Given the description of an element on the screen output the (x, y) to click on. 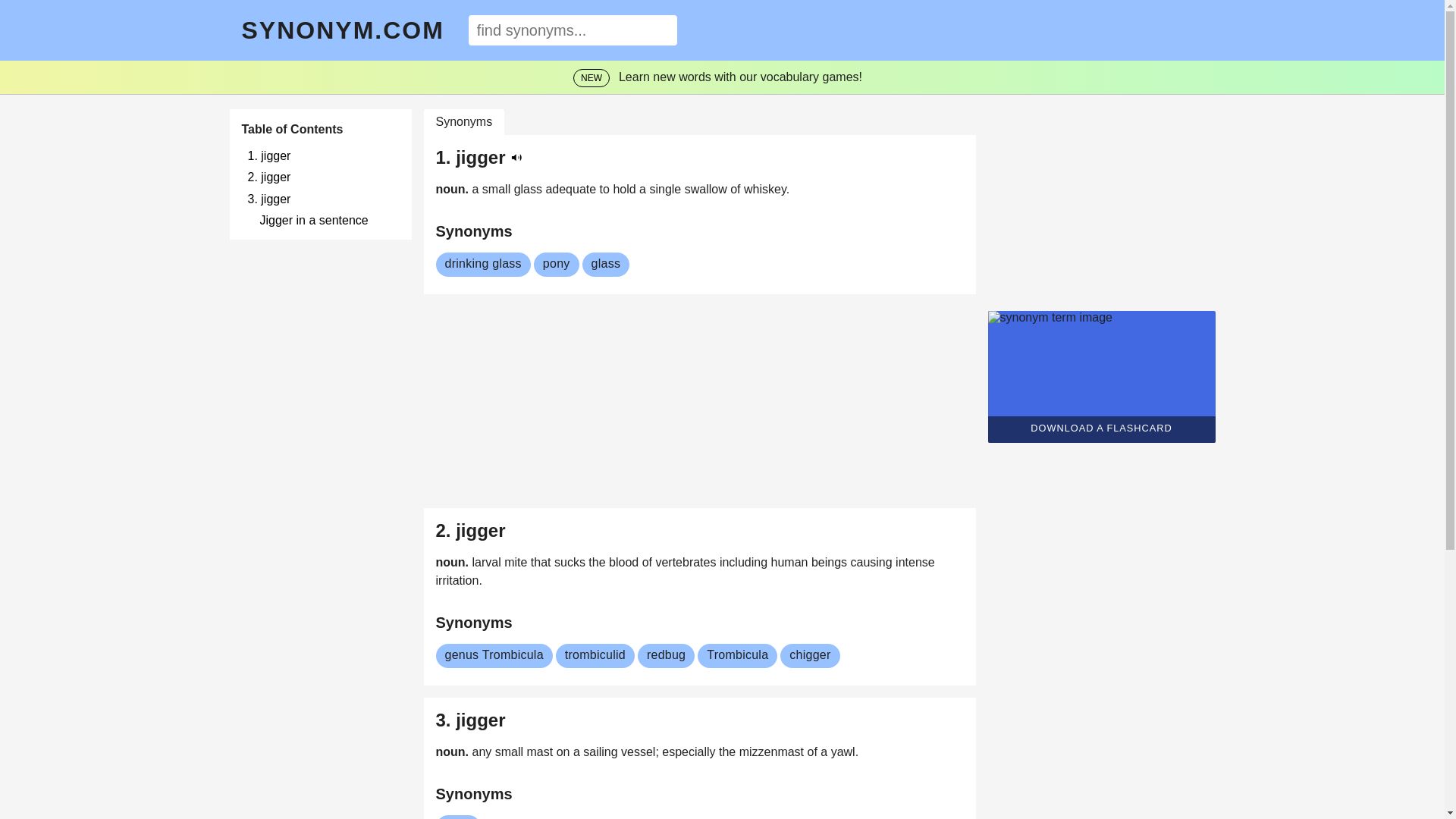
causing (872, 562)
redbug (665, 654)
beings (830, 562)
3rd party ad content (698, 401)
hold (625, 188)
genus Trombicula (493, 654)
sucks (571, 562)
human (790, 562)
the (598, 562)
intense (914, 562)
